Given the description of an element on the screen output the (x, y) to click on. 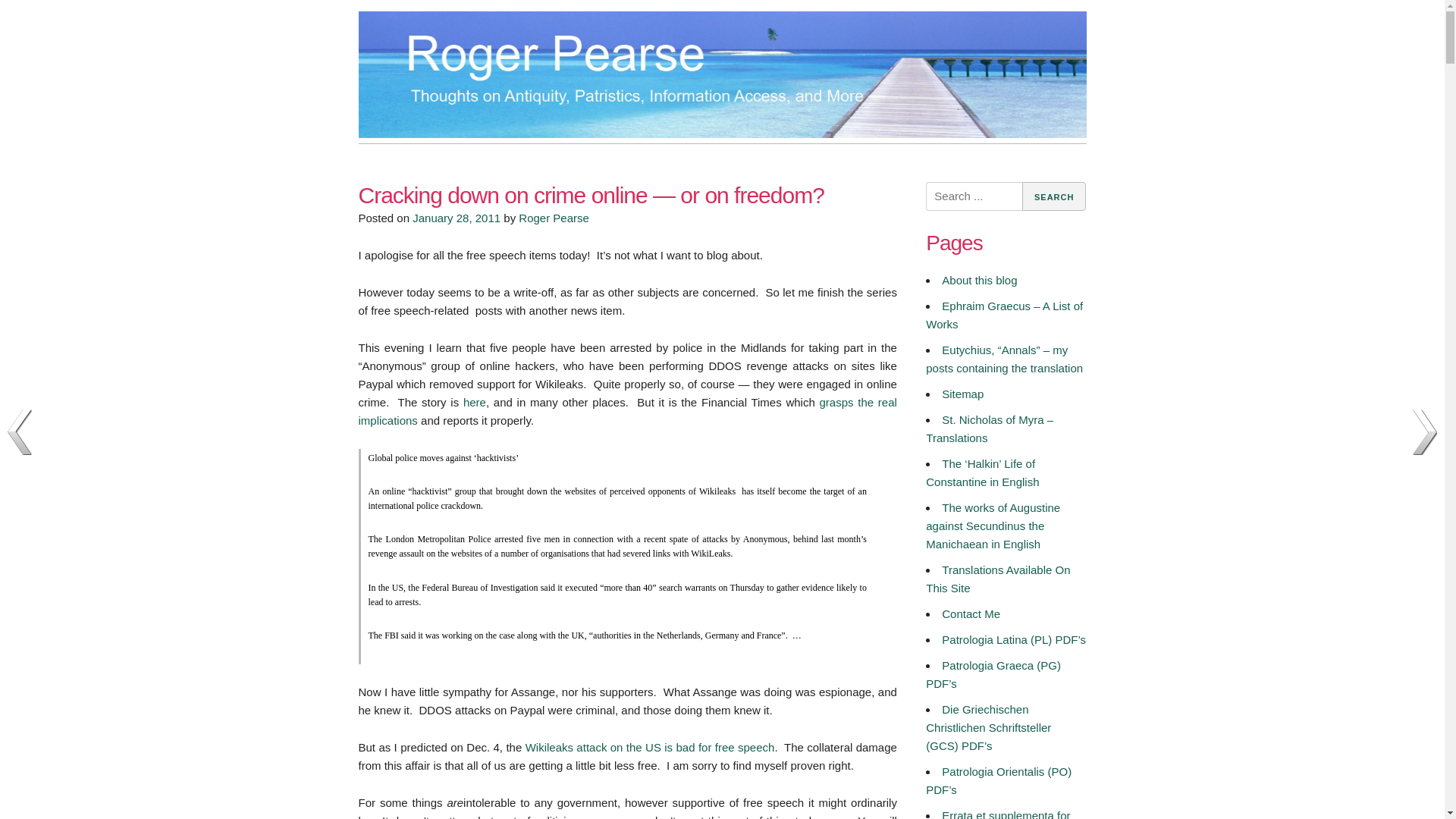
here (474, 401)
grasps the real implications (627, 410)
Wikileaks attack on the US is bad for free speech (649, 747)
Search (1054, 195)
January 28, 2011 (456, 217)
Search (1054, 195)
About this blog (979, 279)
Sitemap (963, 393)
Roger Pearse (553, 217)
Roger Pearse (423, 164)
Search (1054, 195)
